Given the description of an element on the screen output the (x, y) to click on. 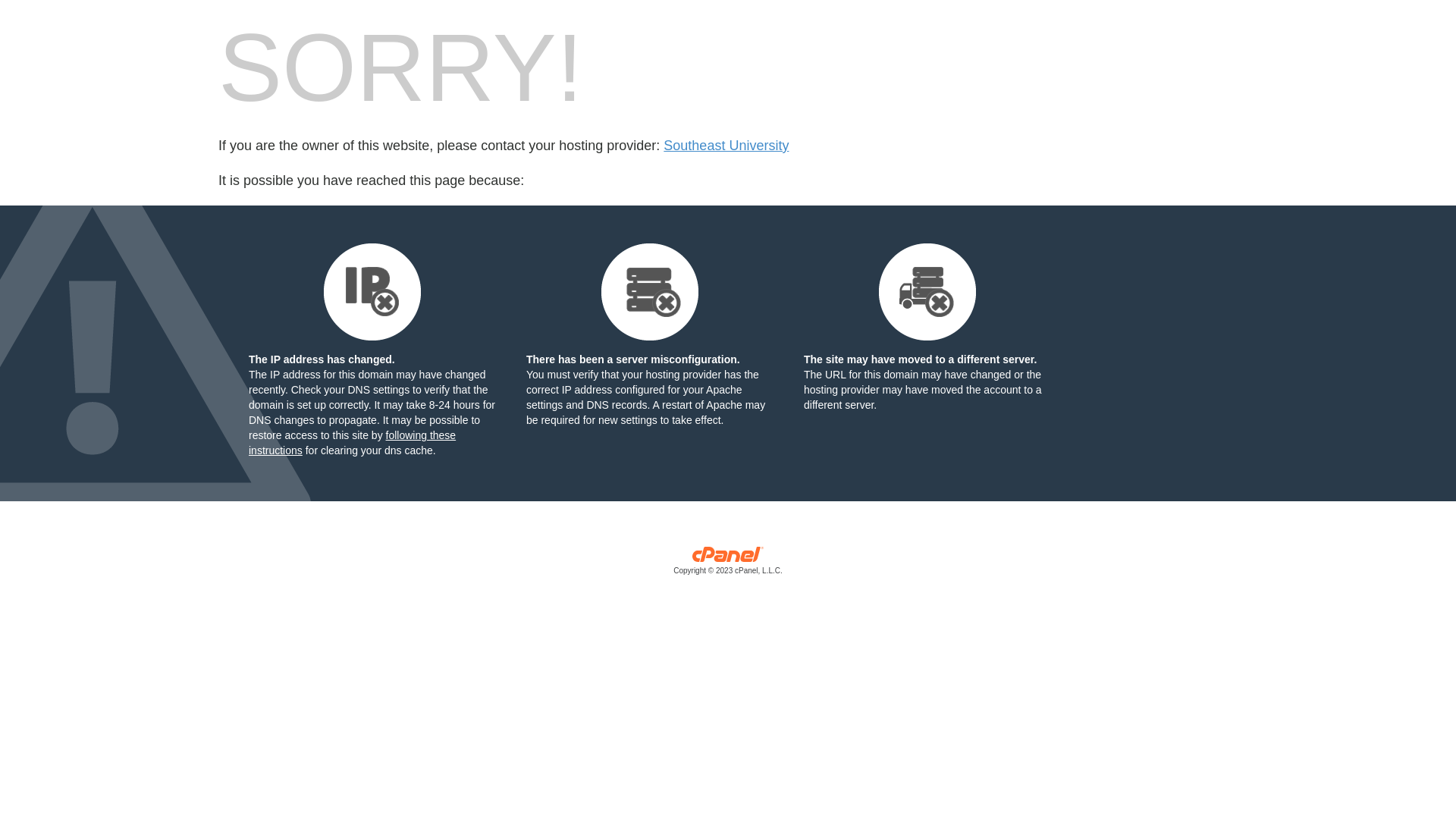
following these instructions Element type: text (351, 442)
Southeast University Element type: text (725, 145)
